Given the description of an element on the screen output the (x, y) to click on. 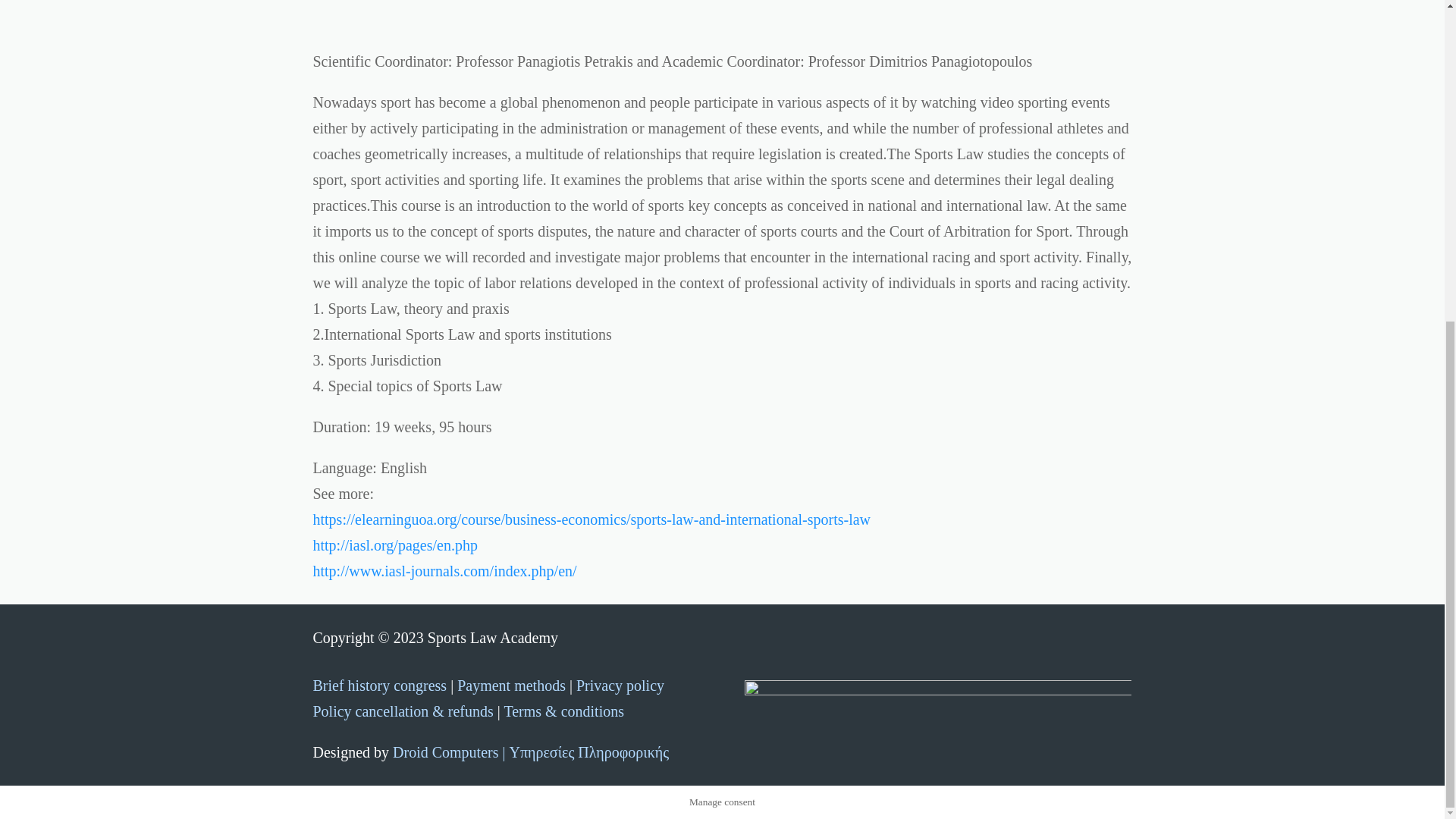
unnamed (937, 709)
